Given the description of an element on the screen output the (x, y) to click on. 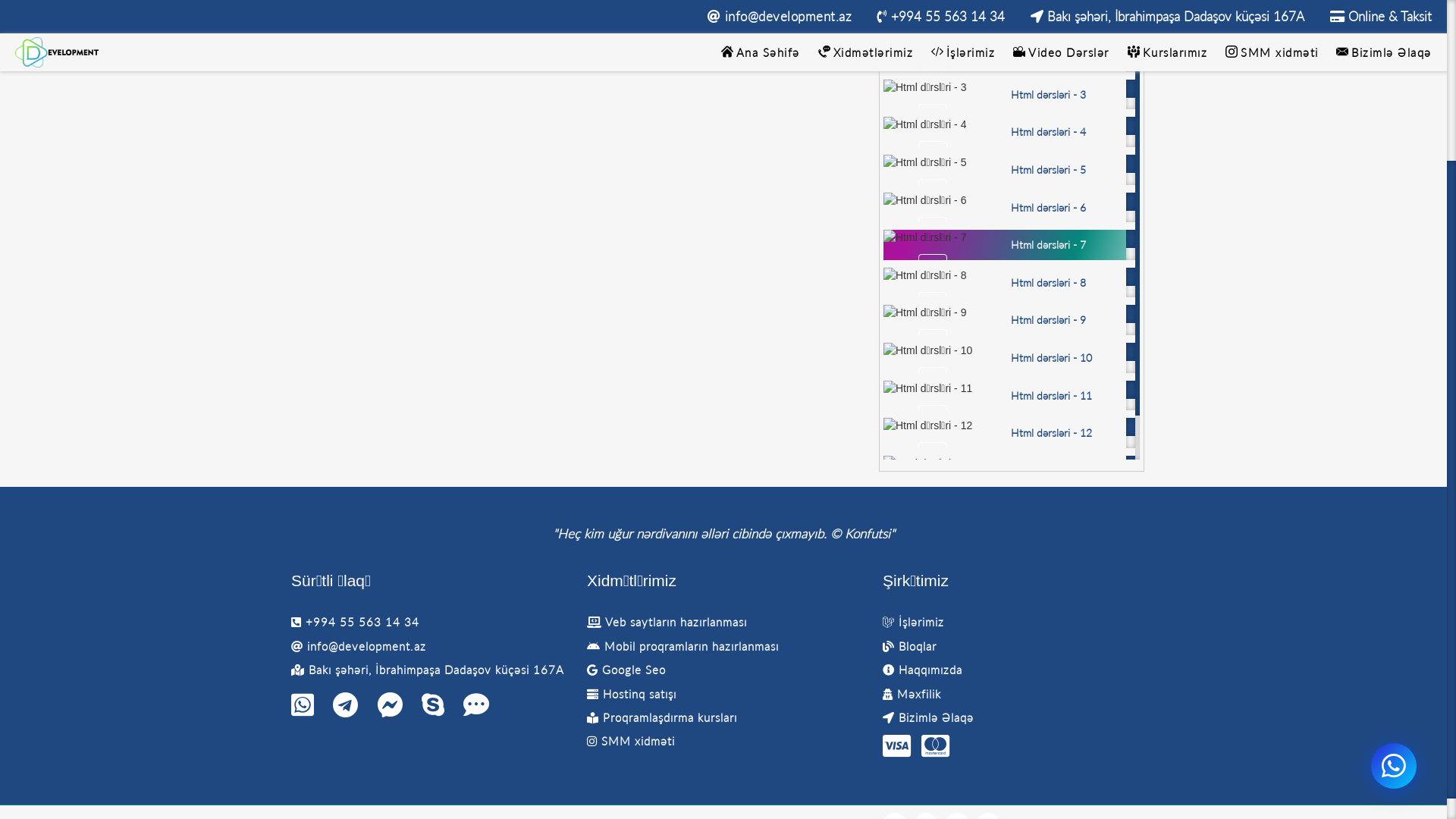
Online & Taksit Element type: text (1380, 223)
